Given the description of an element on the screen output the (x, y) to click on. 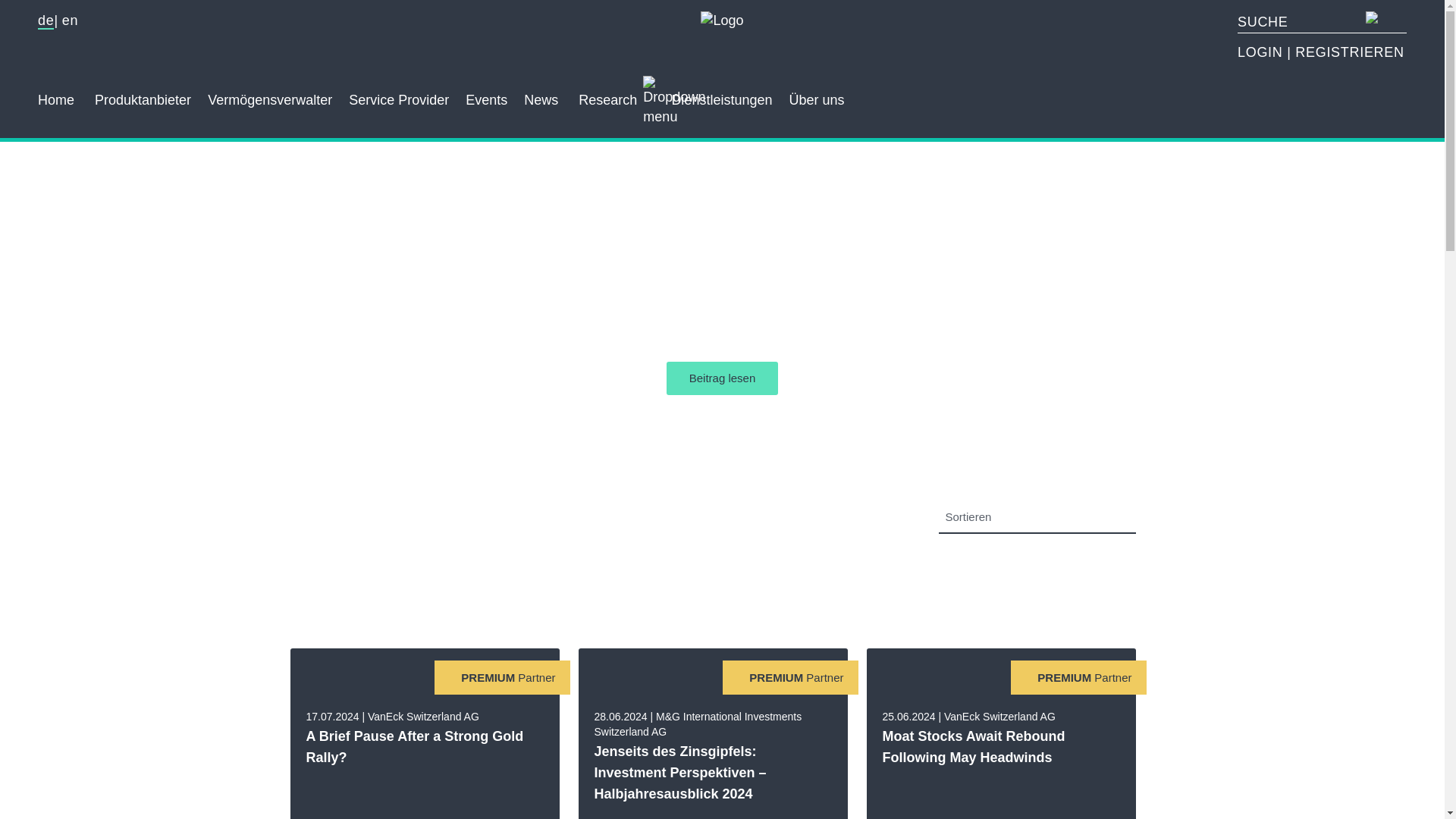
Produktanbieter (142, 92)
en (70, 20)
de (45, 21)
REGISTRIEREN (1349, 52)
Home (55, 92)
Events (485, 92)
Service Provider (398, 92)
LOGIN (1262, 52)
News (540, 92)
